Given the description of an element on the screen output the (x, y) to click on. 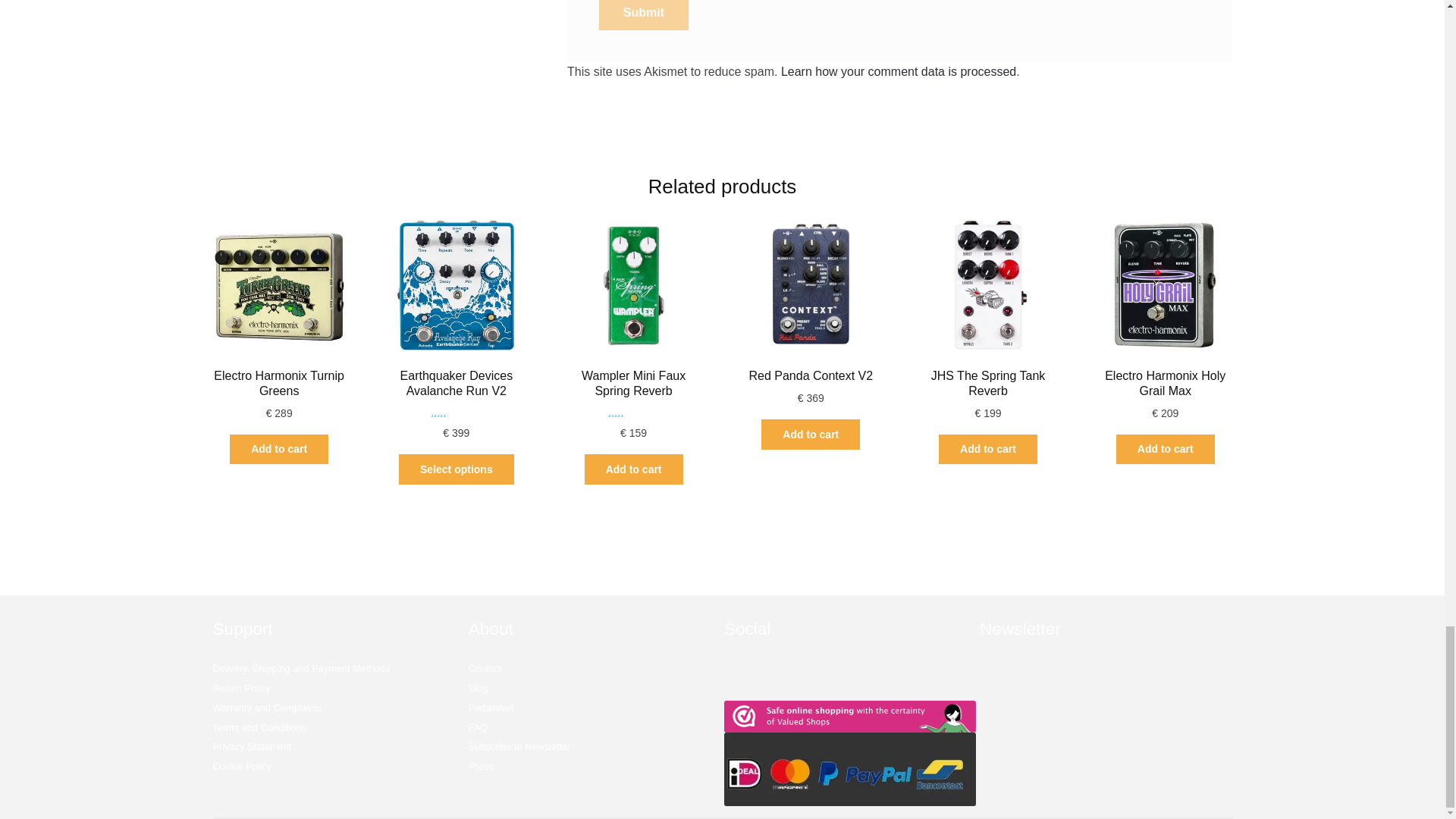
 pedaltown (301, 668)
Terms and Conditions (258, 727)
FAQ (477, 727)
Privacy Statement (251, 746)
Warranty and Complaints (266, 707)
pedaltown blog (477, 687)
subscribe to newsletter (519, 746)
Betaalmogelijkheden Pedaltown (849, 768)
Contact pedaltown (485, 668)
Cookie Policy (241, 766)
